Given the description of an element on the screen output the (x, y) to click on. 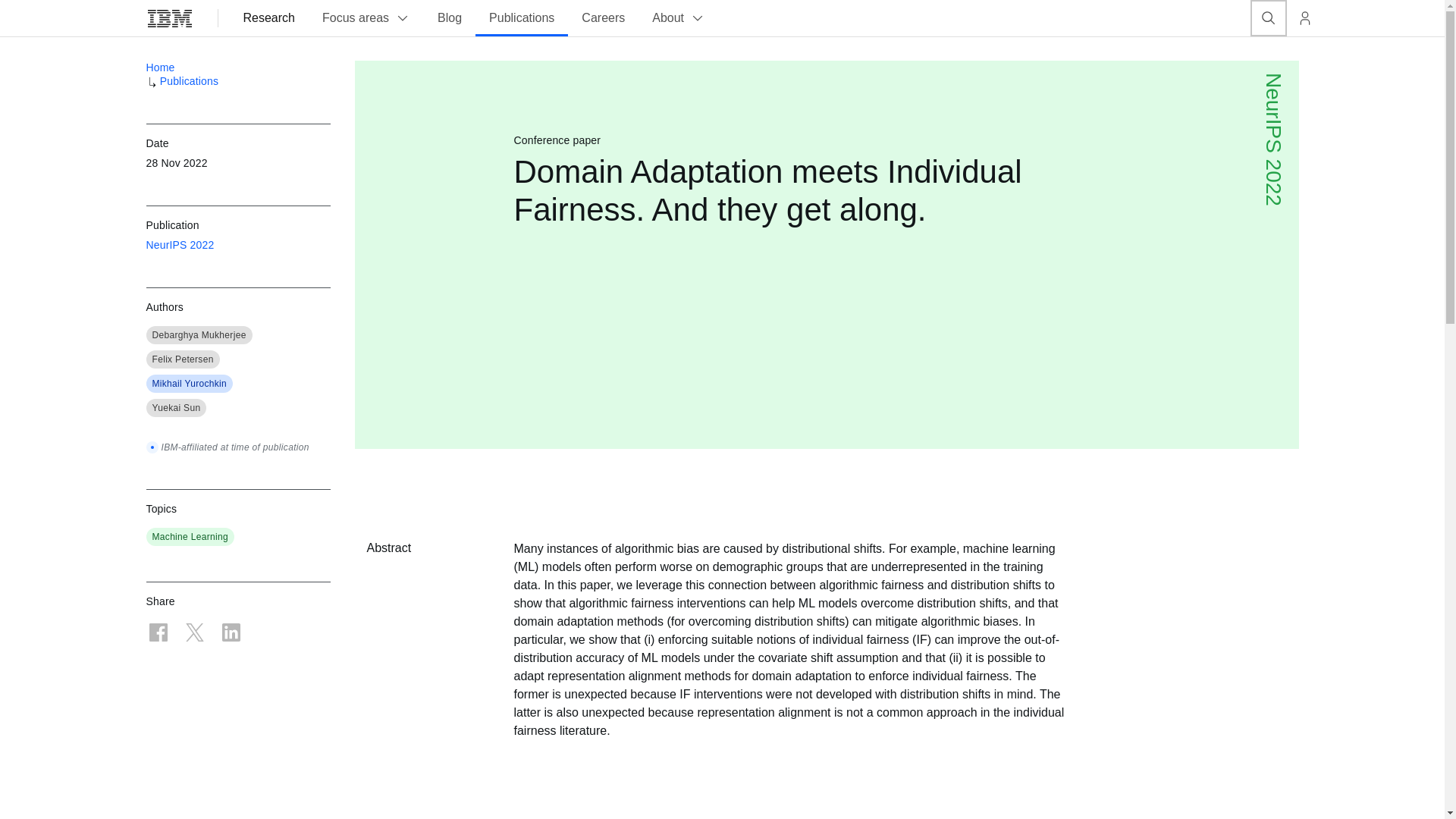
Yuekai Sun (175, 408)
Mikhail Yurochkin (189, 383)
Felix Petersen (181, 358)
Machine Learning (189, 536)
Debarghya Mukherjee (198, 335)
